Given the description of an element on the screen output the (x, y) to click on. 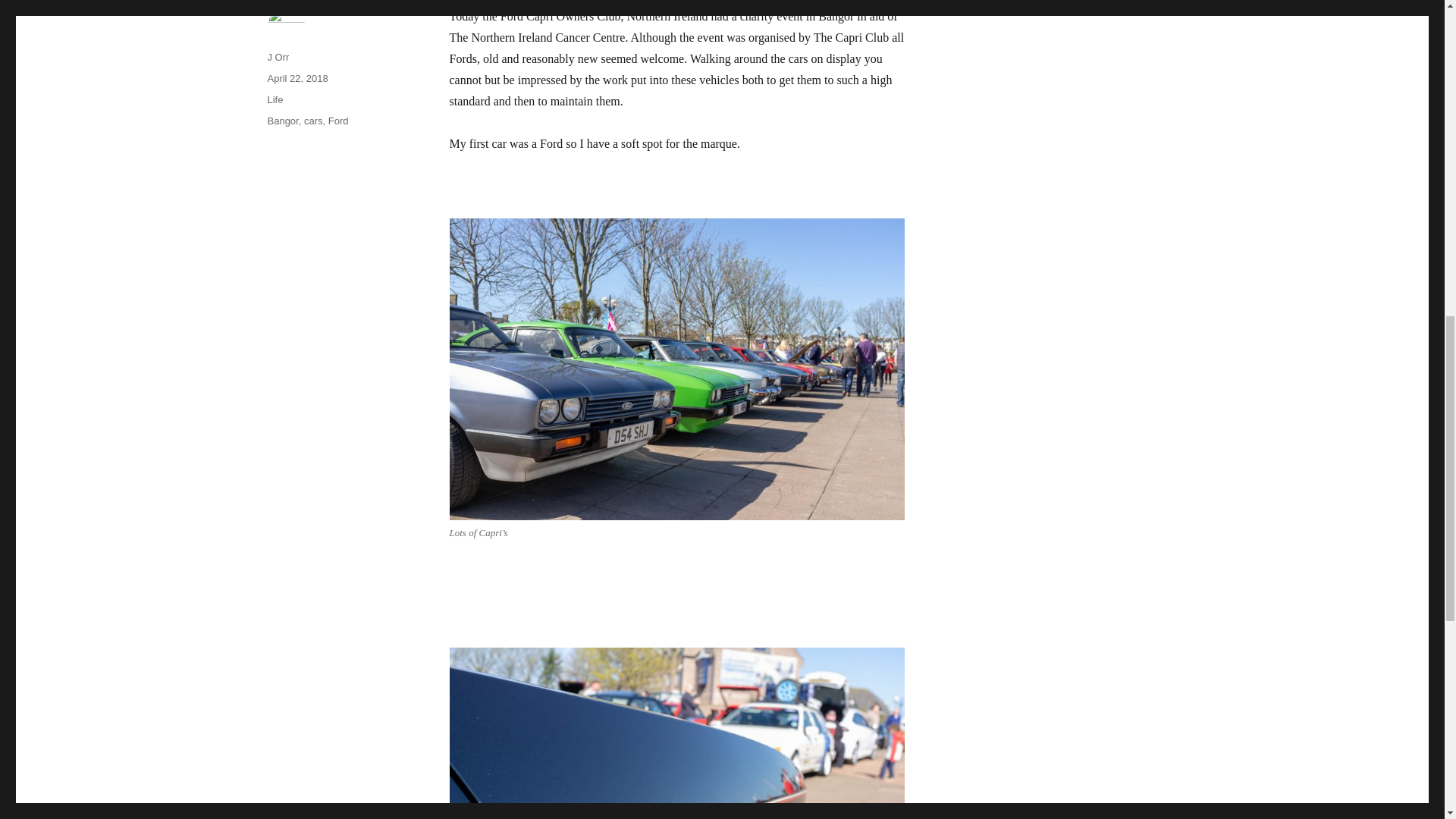
Life (274, 99)
Bangor (282, 120)
April 22, 2018 (296, 78)
cars (313, 120)
J Orr (277, 57)
Ford (339, 120)
